Given the description of an element on the screen output the (x, y) to click on. 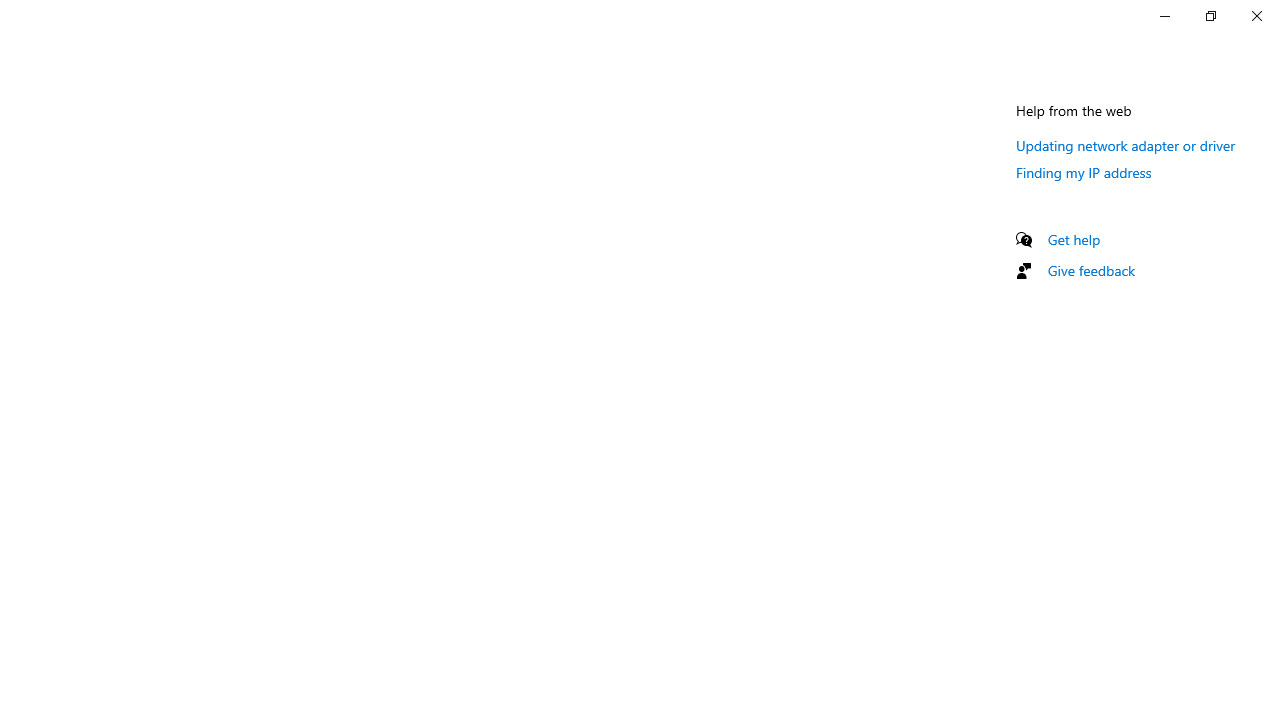
Updating network adapter or driver (1126, 145)
Finding my IP address (1084, 172)
Minimize Settings (1164, 15)
Get help (1074, 239)
Give feedback (1091, 270)
Restore Settings (1210, 15)
Close Settings (1256, 15)
